Given the description of an element on the screen output the (x, y) to click on. 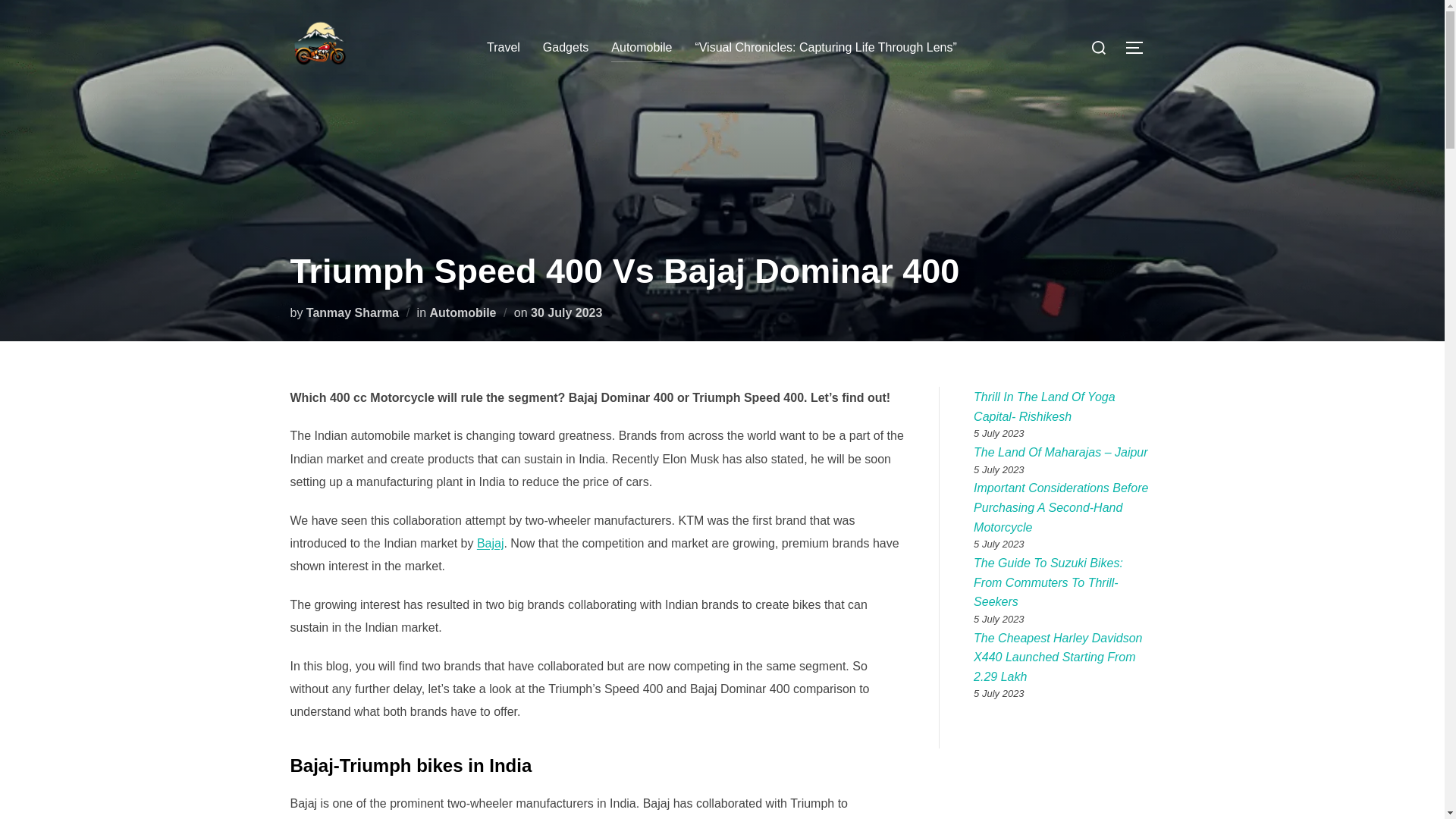
Thrill In The Land Of Yoga Capital- Rishikesh (1044, 406)
Automobile (641, 47)
Tanmay Sharma (351, 312)
Gadgets (565, 47)
Automobile (462, 312)
Bajaj (490, 543)
30 July 2023 (566, 312)
The Guide To Suzuki Bikes: From Commuters To Thrill-Seekers (1048, 582)
Travel (502, 47)
